Given the description of an element on the screen output the (x, y) to click on. 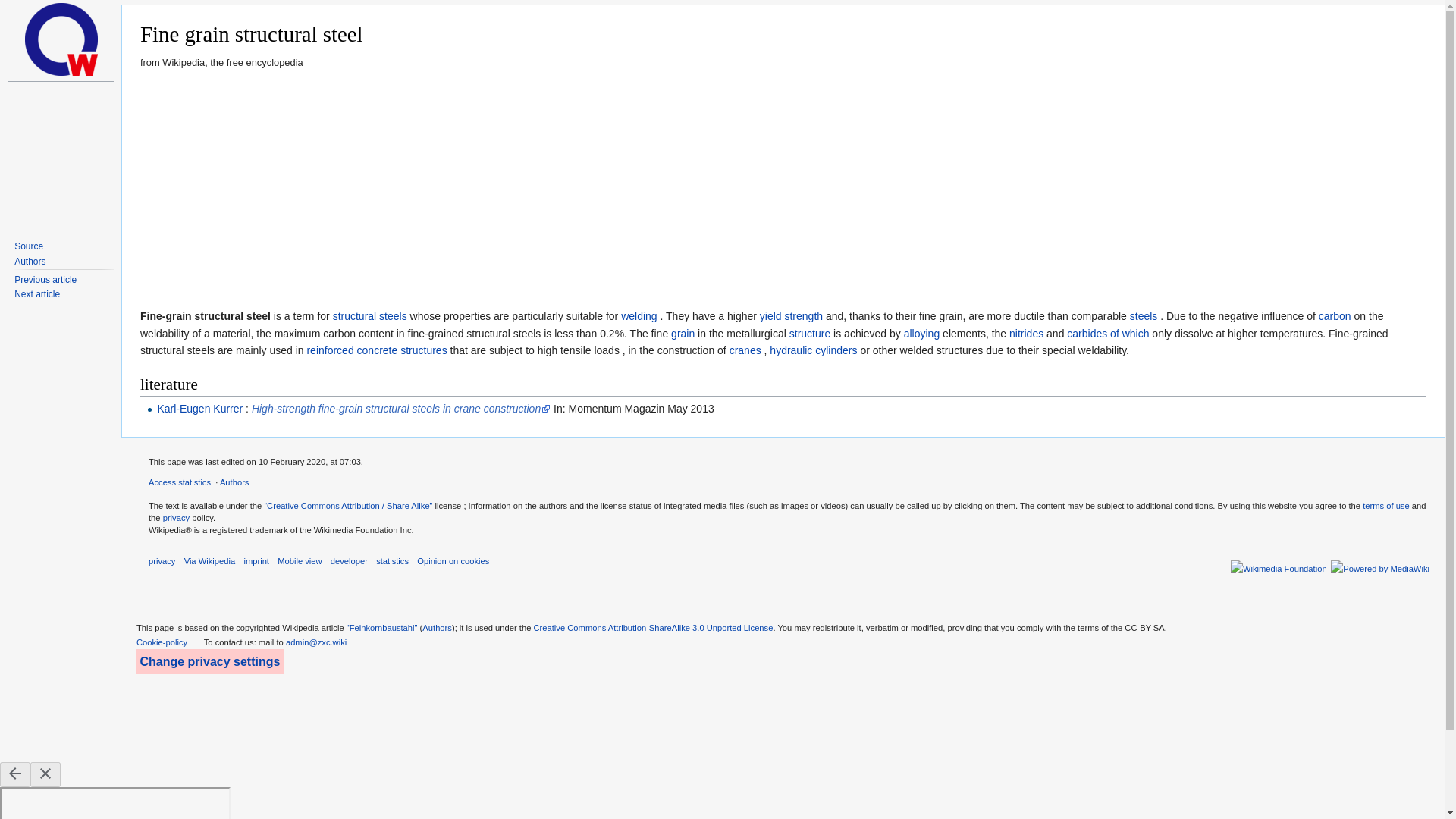
carbides of which (1107, 333)
privacy (176, 517)
steels (1143, 316)
grain (682, 333)
developer (349, 560)
welding (638, 316)
reinforced concrete structures (375, 349)
statistics (392, 560)
Cookie-policy (161, 641)
structure (809, 333)
alloying (921, 333)
Karl-Eugen Kurrer (200, 408)
nitrides (1026, 333)
Authors (233, 481)
